Given the description of an element on the screen output the (x, y) to click on. 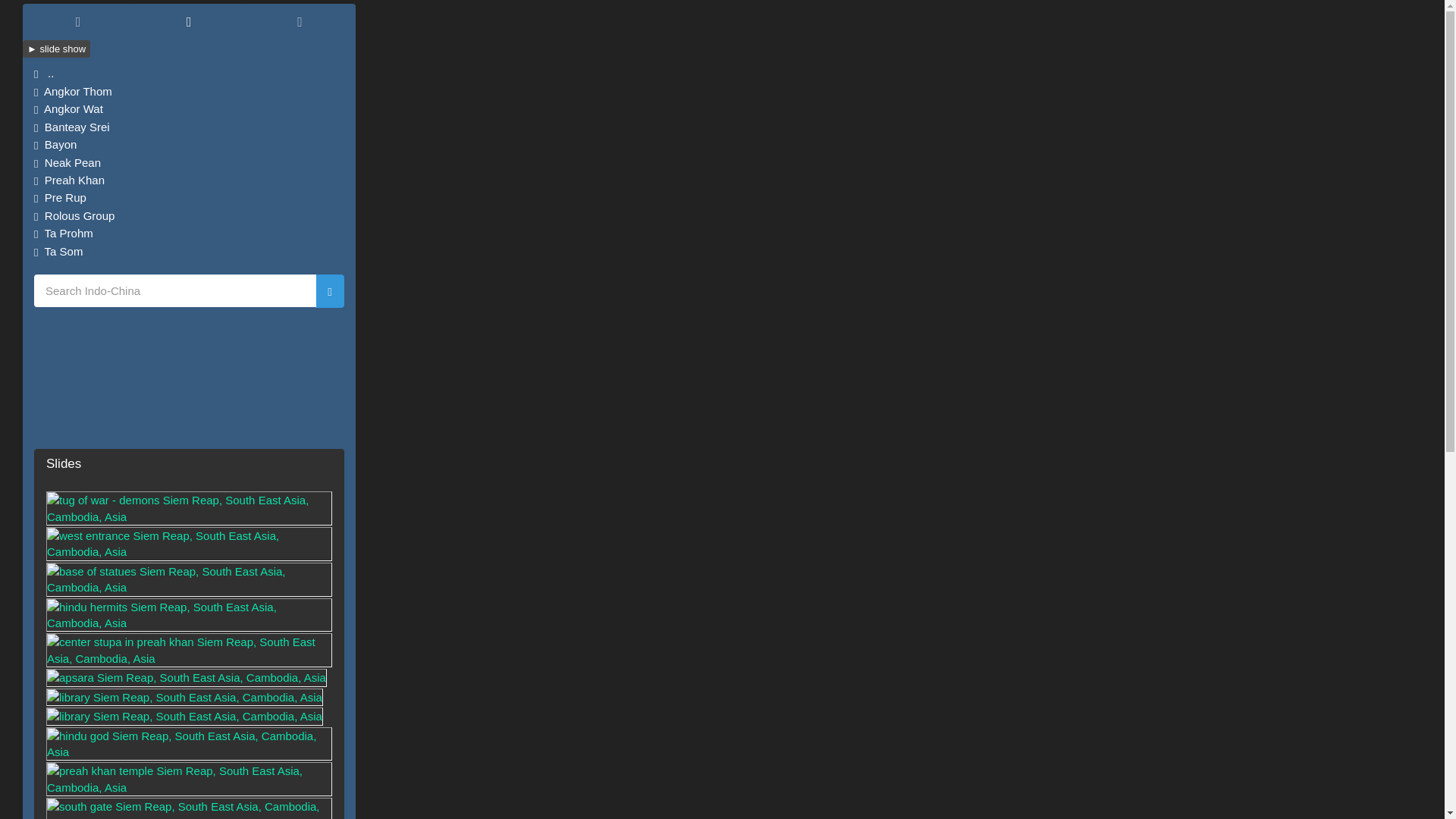
 Bayon (188, 144)
angkor complex (188, 22)
 Angkor Wat (188, 108)
 Preah Khan (188, 179)
 Pre Rup (188, 197)
hindu hermits (188, 632)
 Banteay Srei (188, 126)
  .. (188, 73)
west entrance (188, 561)
 Rolous Group (188, 215)
